Given the description of an element on the screen output the (x, y) to click on. 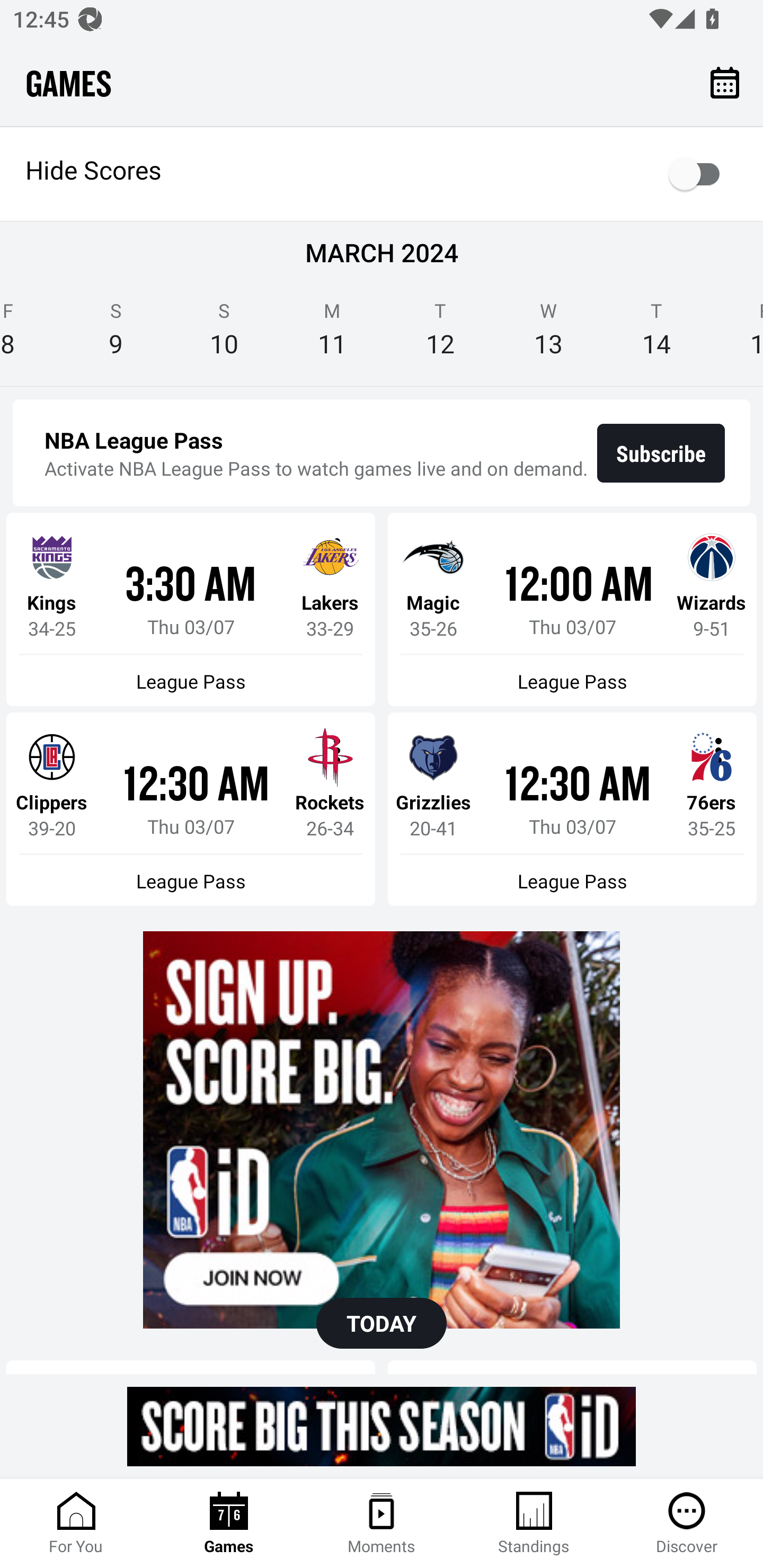
Calendar (724, 81)
Hide Scores (381, 174)
S 9 (115, 334)
S 10 (224, 334)
M 11 (331, 334)
T 12 (440, 334)
W 13 (548, 334)
T 14 (656, 334)
Subscribe (660, 452)
TODAY (381, 1323)
For You (76, 1523)
Moments (381, 1523)
Standings (533, 1523)
Discover (686, 1523)
